Given the description of an element on the screen output the (x, y) to click on. 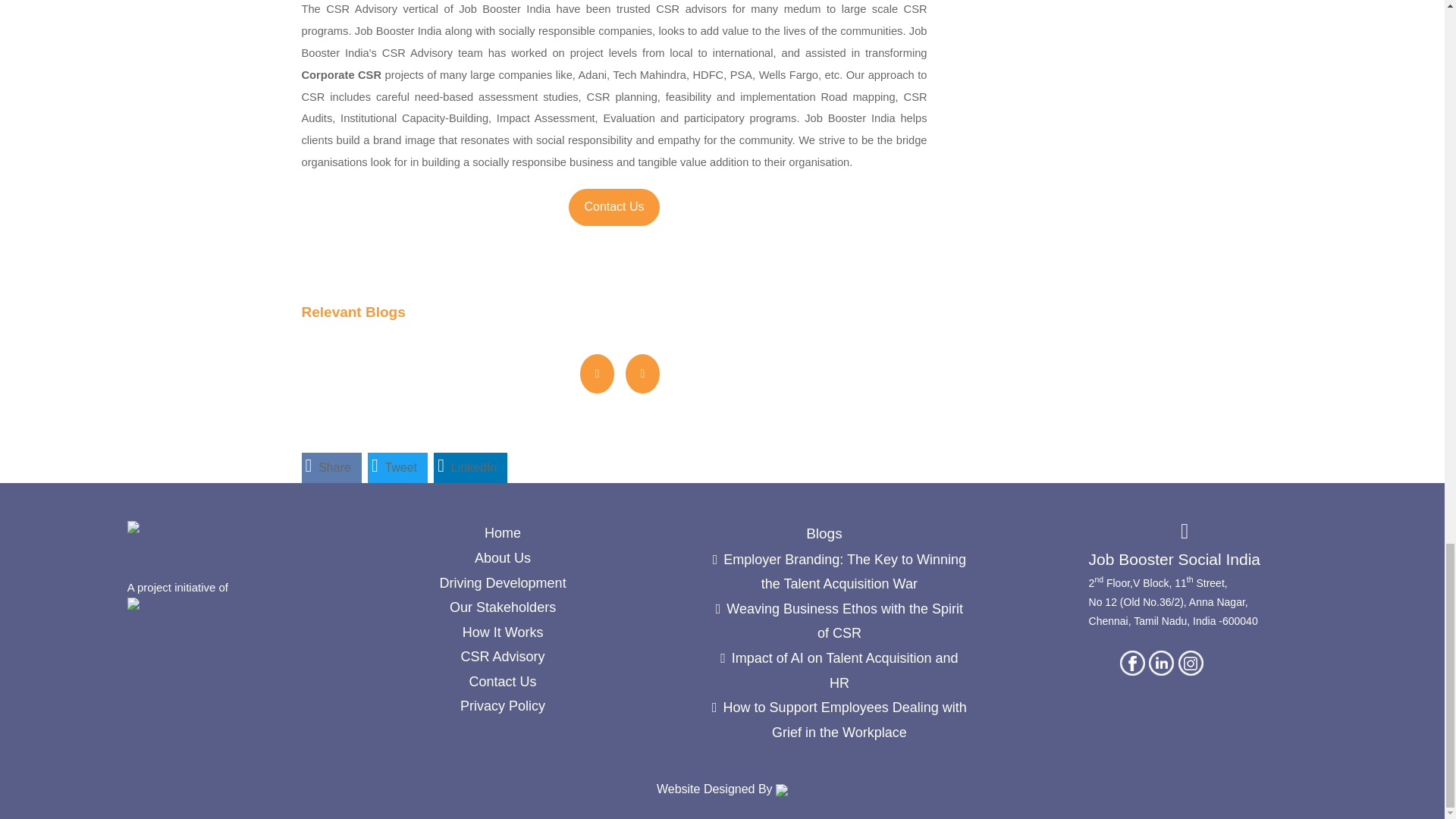
Contact Us (614, 205)
Contact Us (614, 207)
